Given the description of an element on the screen output the (x, y) to click on. 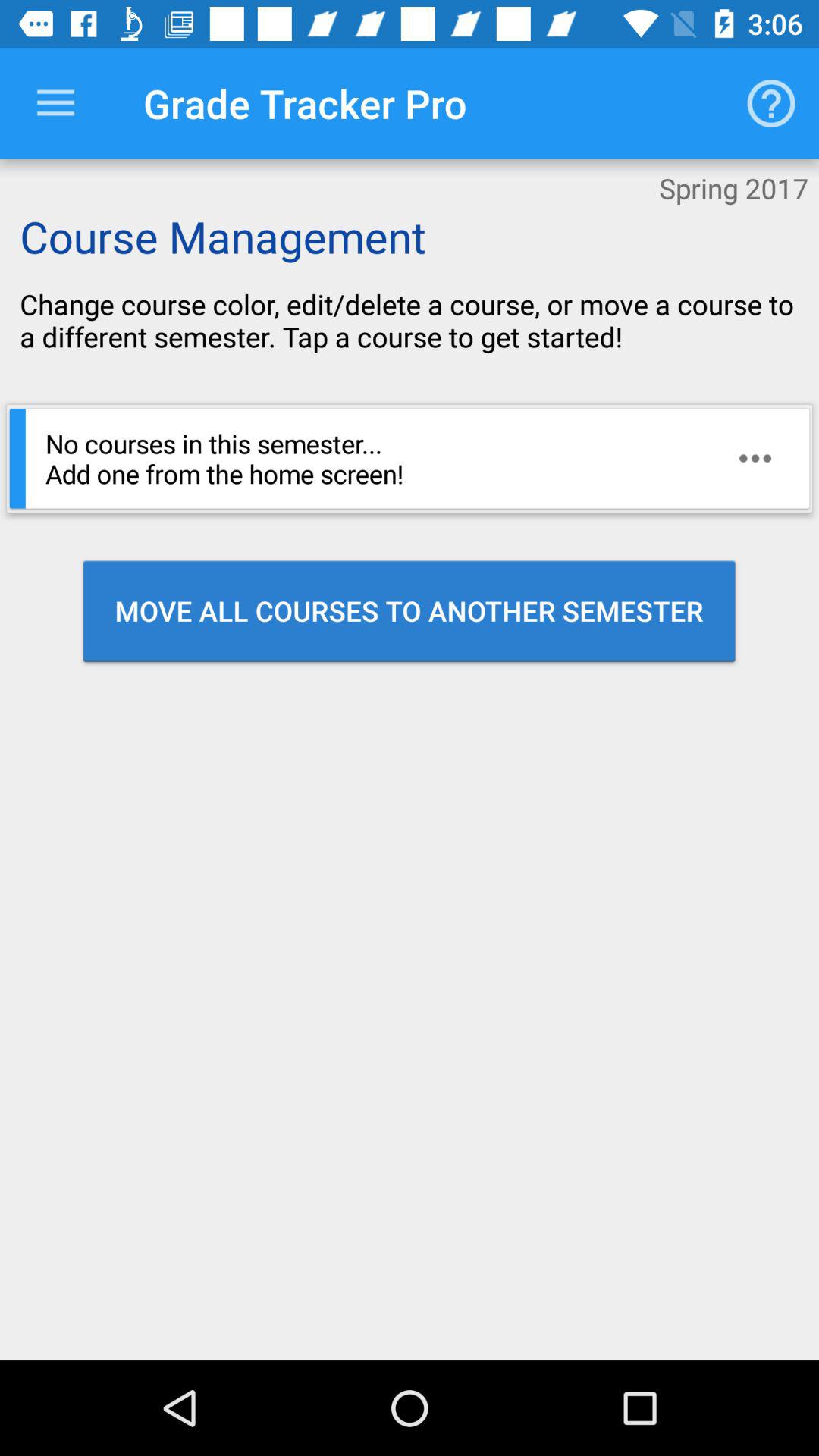
launch the item next to the grade tracker pro icon (771, 103)
